Given the description of an element on the screen output the (x, y) to click on. 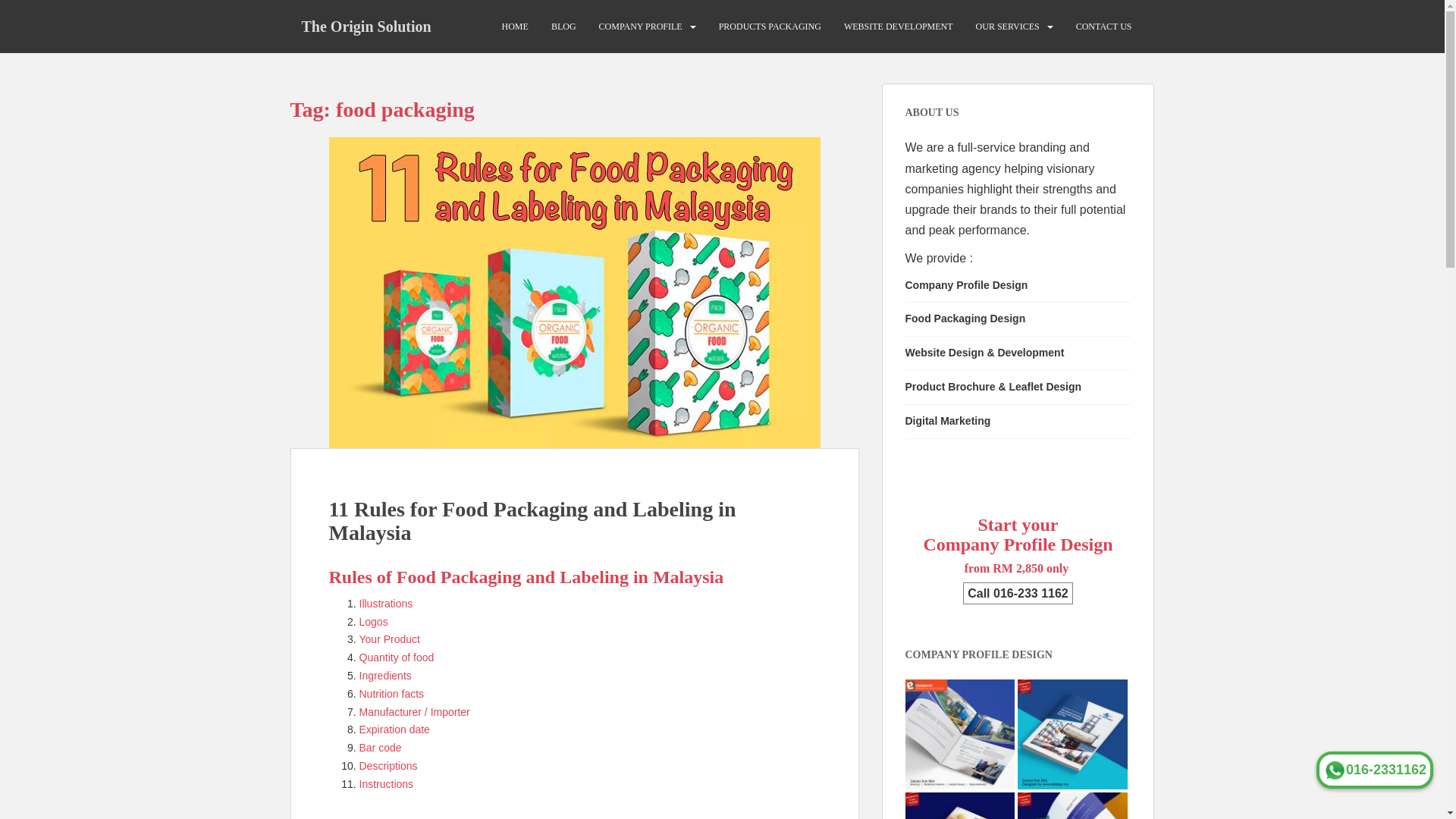
Ingredients (385, 675)
Illustrations (386, 603)
PRODUCTS PACKAGING (770, 26)
Logos (373, 621)
11 Rules for Food Packaging and Labeling in Malaysia (532, 520)
Quantity of food (396, 657)
Bar code (380, 747)
The Origin Solution (365, 26)
OUR SERVICES (1007, 26)
Expiration date (394, 729)
Descriptions (388, 766)
WEBSITE DEVELOPMENT (898, 26)
Nutrition facts (392, 693)
016-2331162 (1374, 769)
CONTACT US (1103, 26)
